Given the description of an element on the screen output the (x, y) to click on. 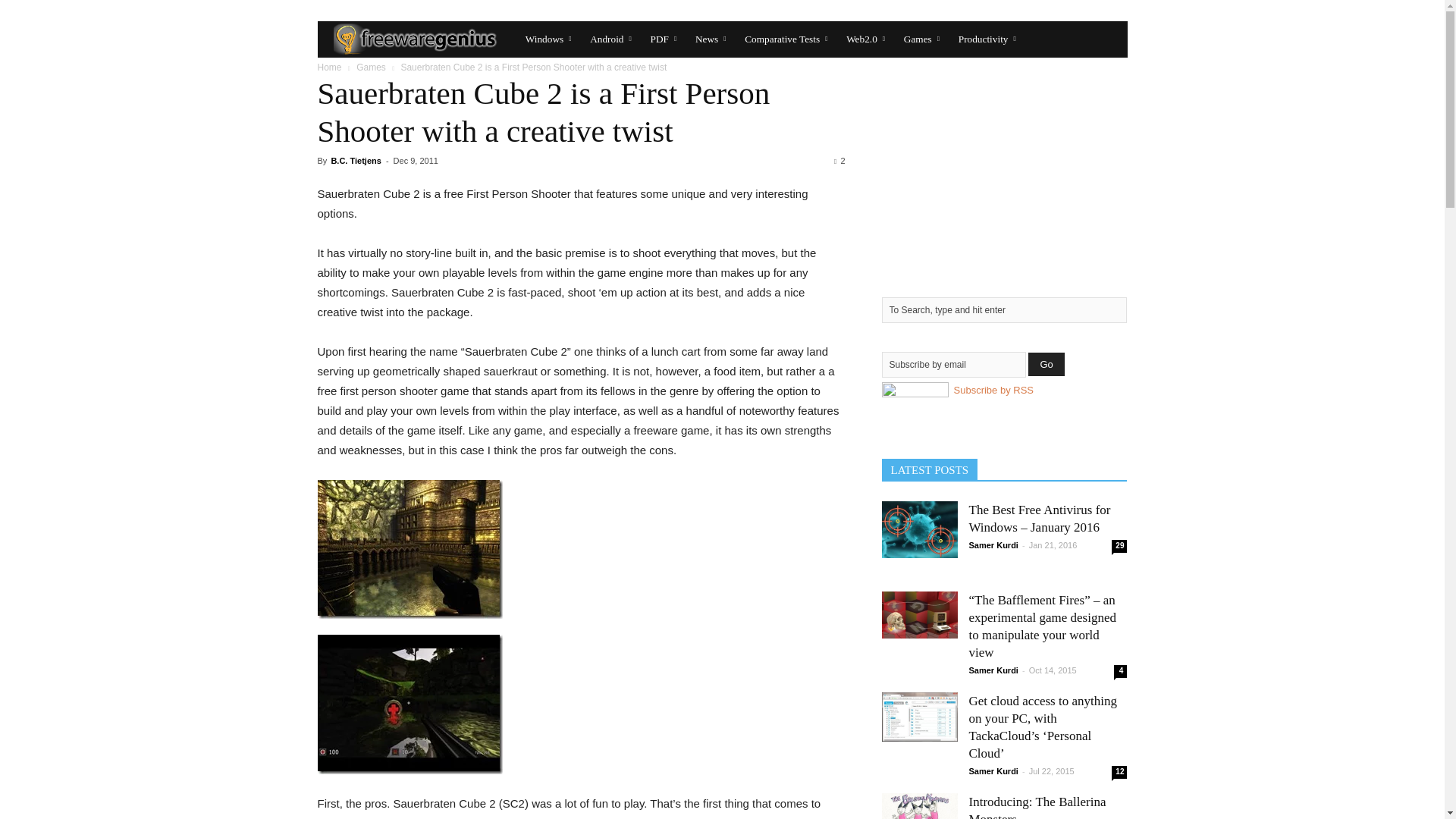
To Search, type and hit enter (1003, 309)
Go (1045, 363)
To Search, type and hit enter (1003, 309)
Subscribe by email (952, 364)
